Given the description of an element on the screen output the (x, y) to click on. 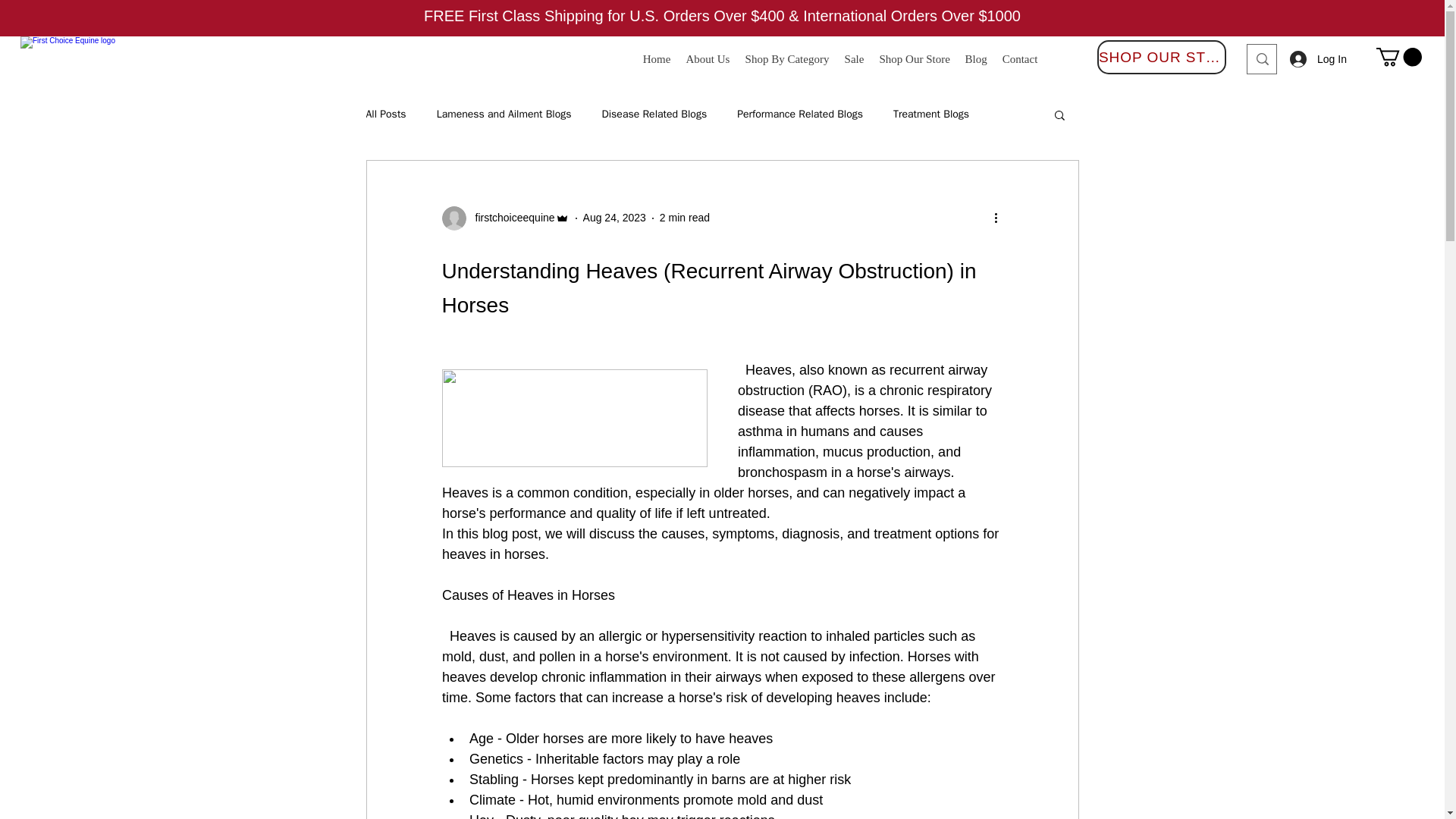
Treatment Blogs (931, 114)
SHOP OUR STORE (1161, 57)
Aug 24, 2023 (614, 217)
2 min read (684, 217)
Shop By Category (785, 58)
Home (656, 58)
Log In (1315, 59)
Performance Related Blogs (799, 114)
About Us (707, 58)
Lameness and Ailment Blogs (504, 114)
